Given the description of an element on the screen output the (x, y) to click on. 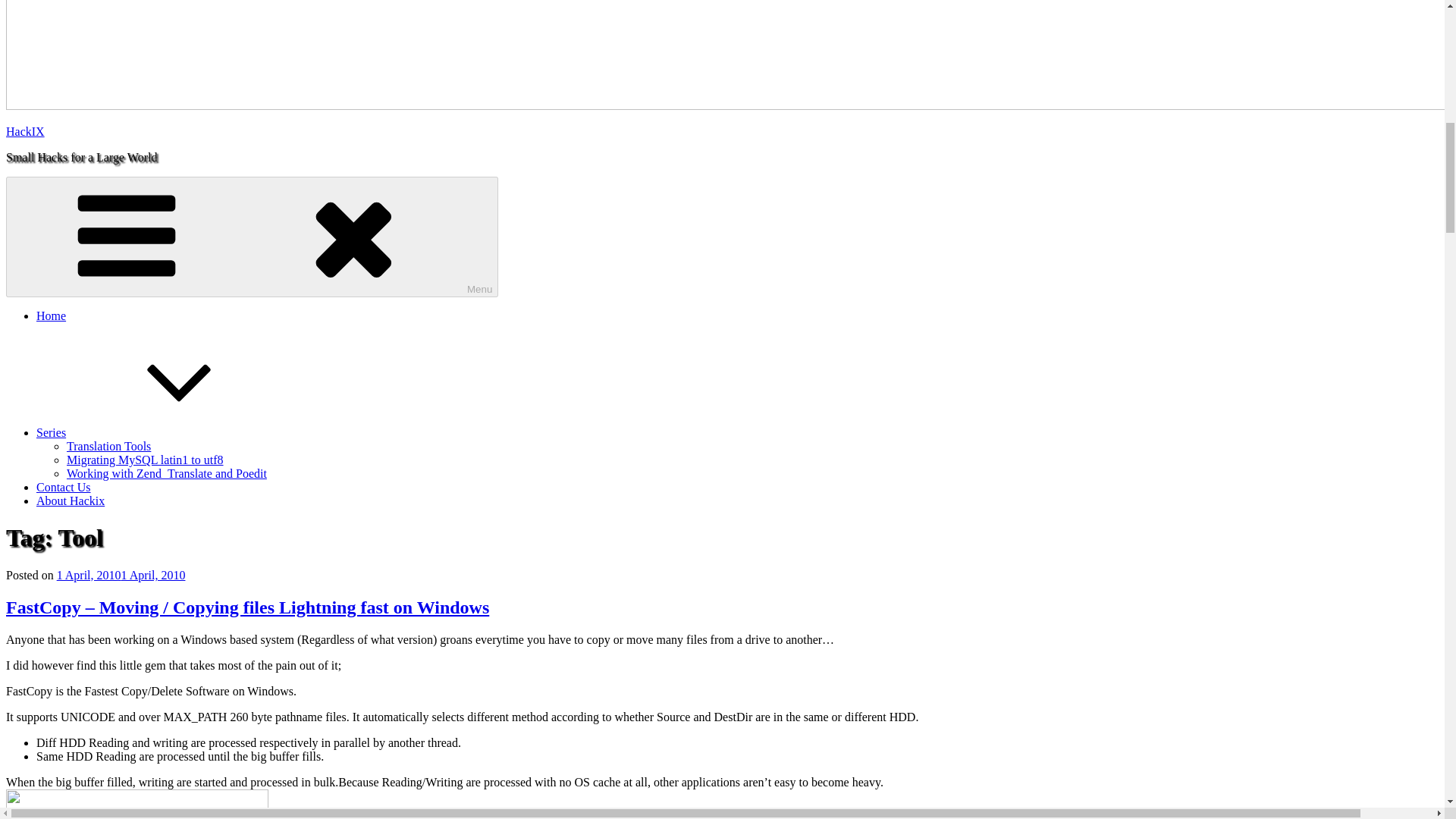
Migrating MySQL latin1 to utf8 (145, 459)
1 April, 20101 April, 2010 (121, 574)
HackIX (25, 131)
Home (50, 315)
Series (165, 431)
fastcopy (136, 804)
Translation Tools (108, 445)
About Hackix (70, 500)
Contact Us (63, 486)
Menu (251, 236)
